Given the description of an element on the screen output the (x, y) to click on. 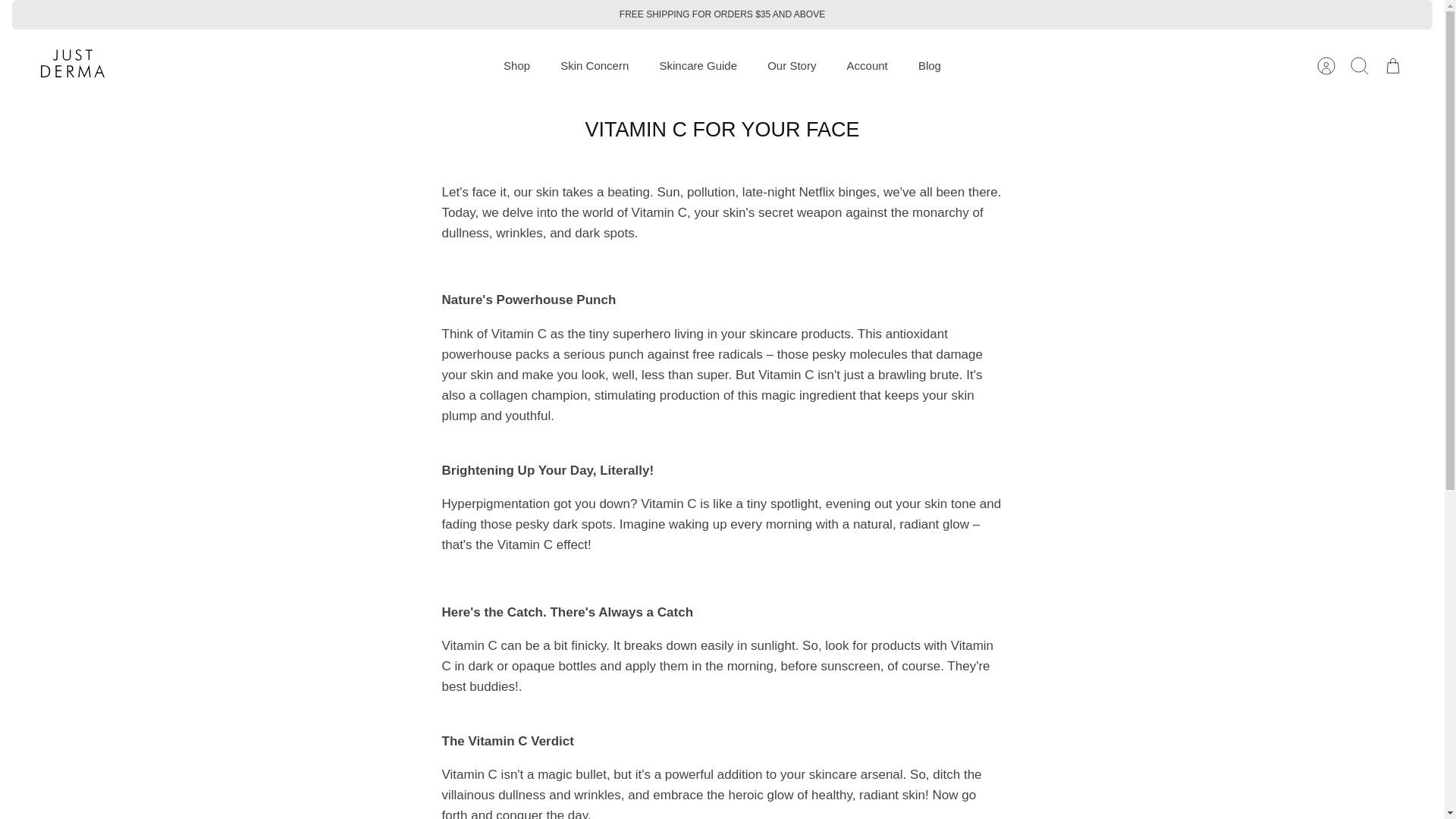
Skin Concern (594, 66)
Account (866, 66)
Blog (929, 66)
Account (1325, 65)
Skincare Guide (698, 66)
Cart (1392, 65)
Search (1358, 65)
JustDerma (72, 65)
Our Story (791, 66)
Shop (516, 66)
